Given the description of an element on the screen output the (x, y) to click on. 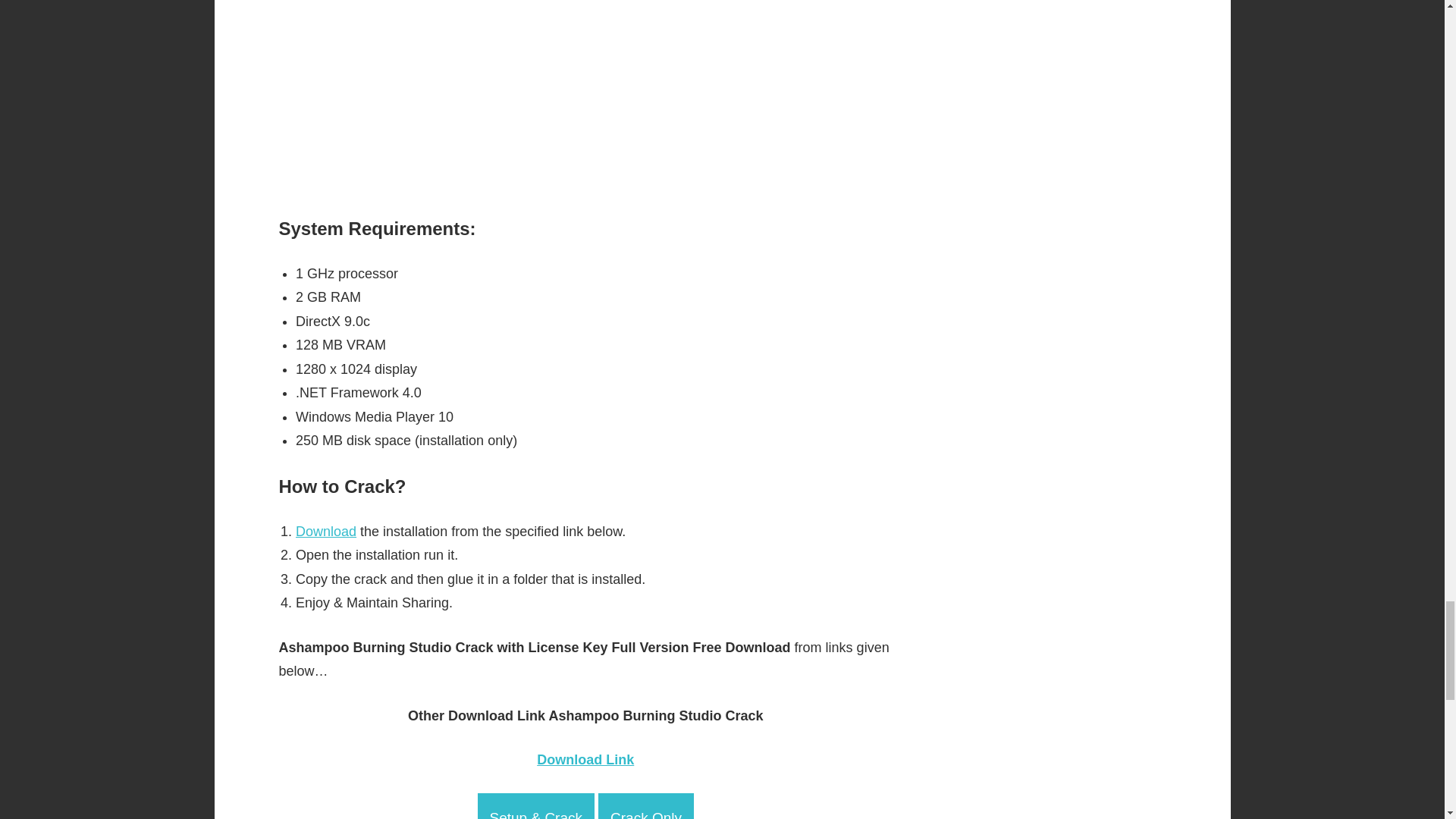
Download (325, 530)
Crack Only (646, 806)
Download Link (585, 759)
